Given the description of an element on the screen output the (x, y) to click on. 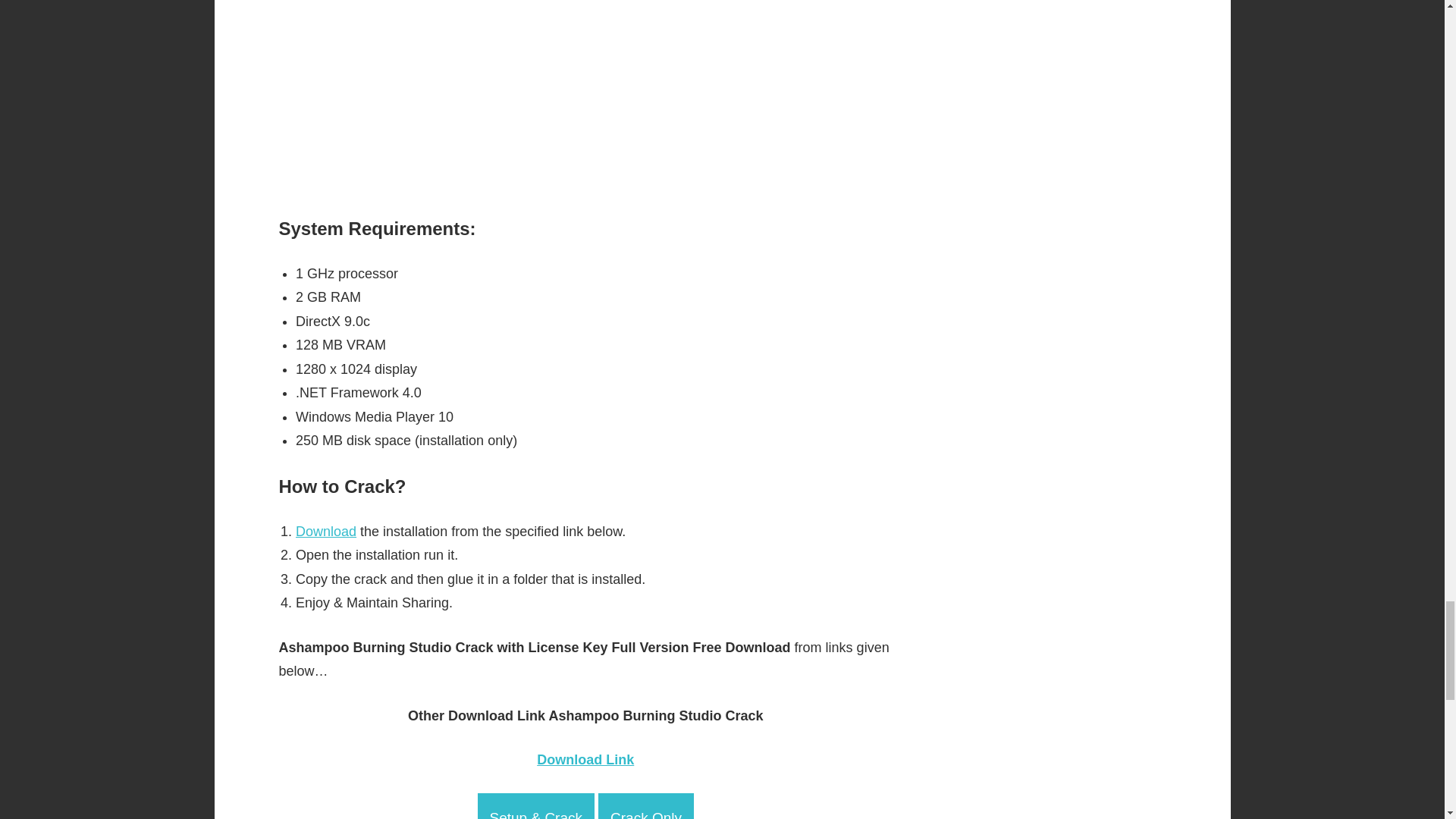
Download (325, 530)
Crack Only (646, 806)
Download Link (585, 759)
